Given the description of an element on the screen output the (x, y) to click on. 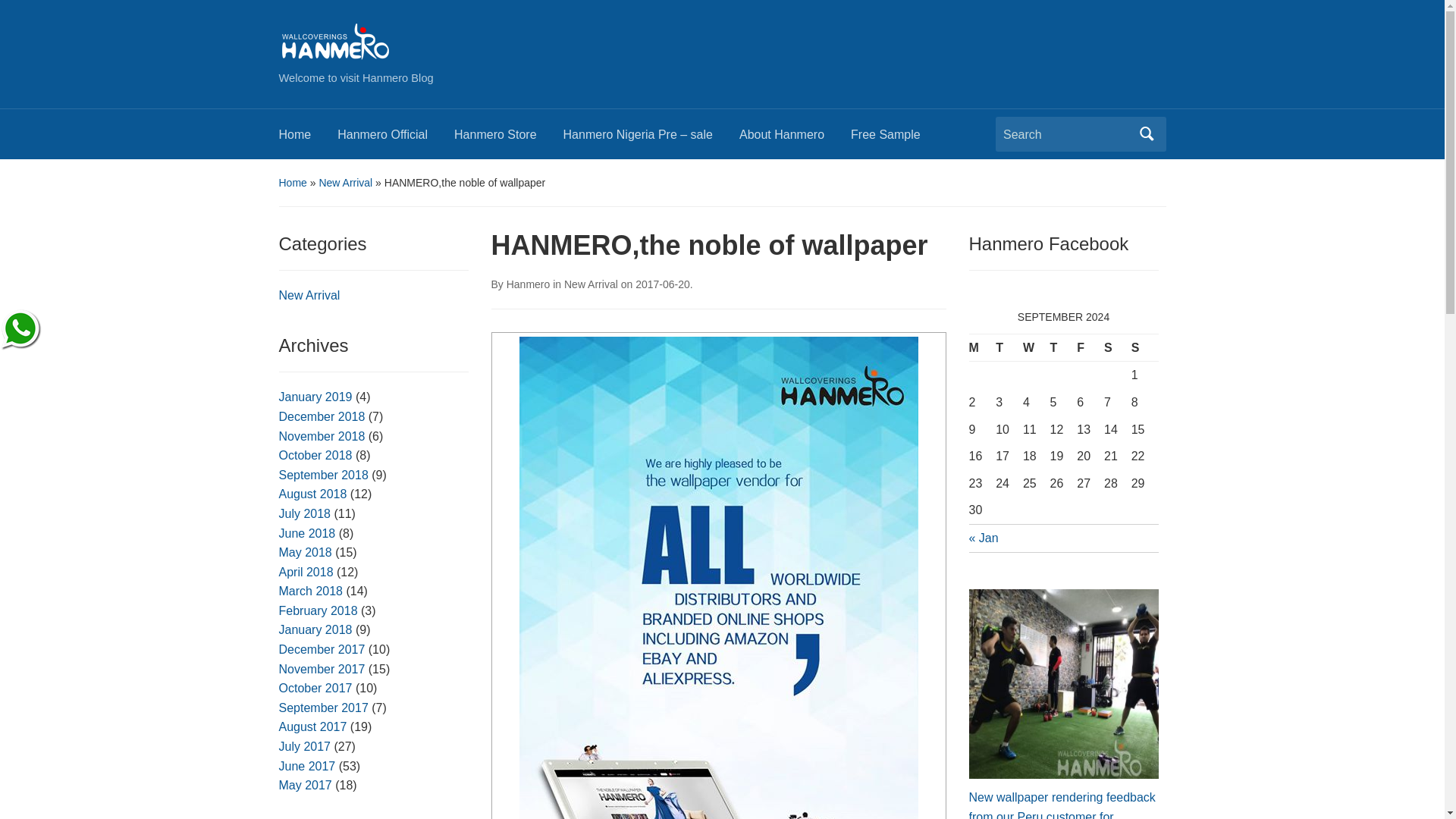
New Arrival (309, 295)
December 2018 (322, 416)
October 2018 (315, 454)
December 2017 (322, 649)
September 2018 (323, 474)
February 2018 (318, 610)
November 2018 (322, 436)
June 2018 (307, 533)
Hanmero Official (395, 139)
January 2019 (315, 396)
